Given the description of an element on the screen output the (x, y) to click on. 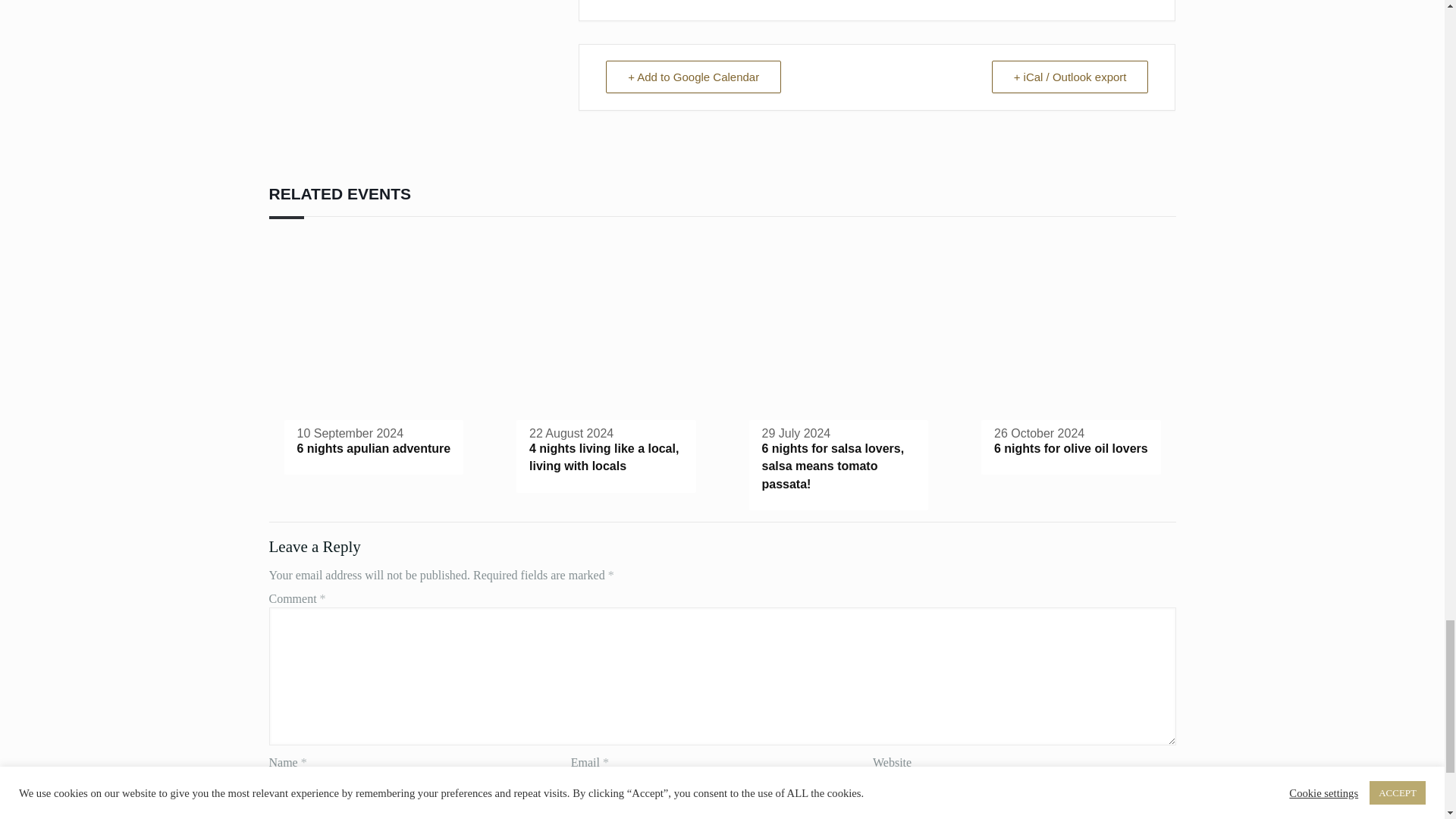
yes (275, 816)
